Given the description of an element on the screen output the (x, y) to click on. 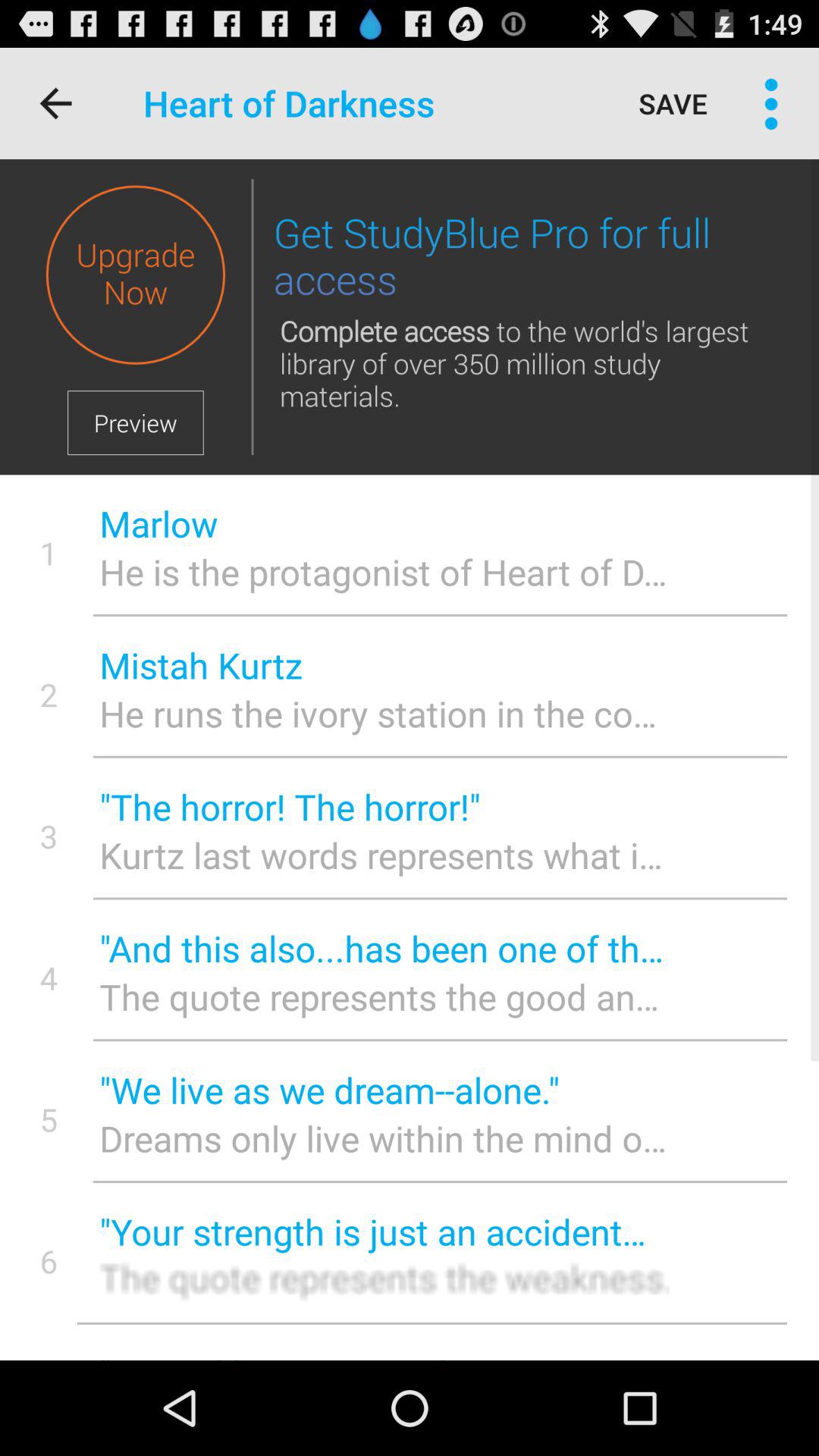
turn off the icon to the right of upgrade now (252, 317)
